Given the description of an element on the screen output the (x, y) to click on. 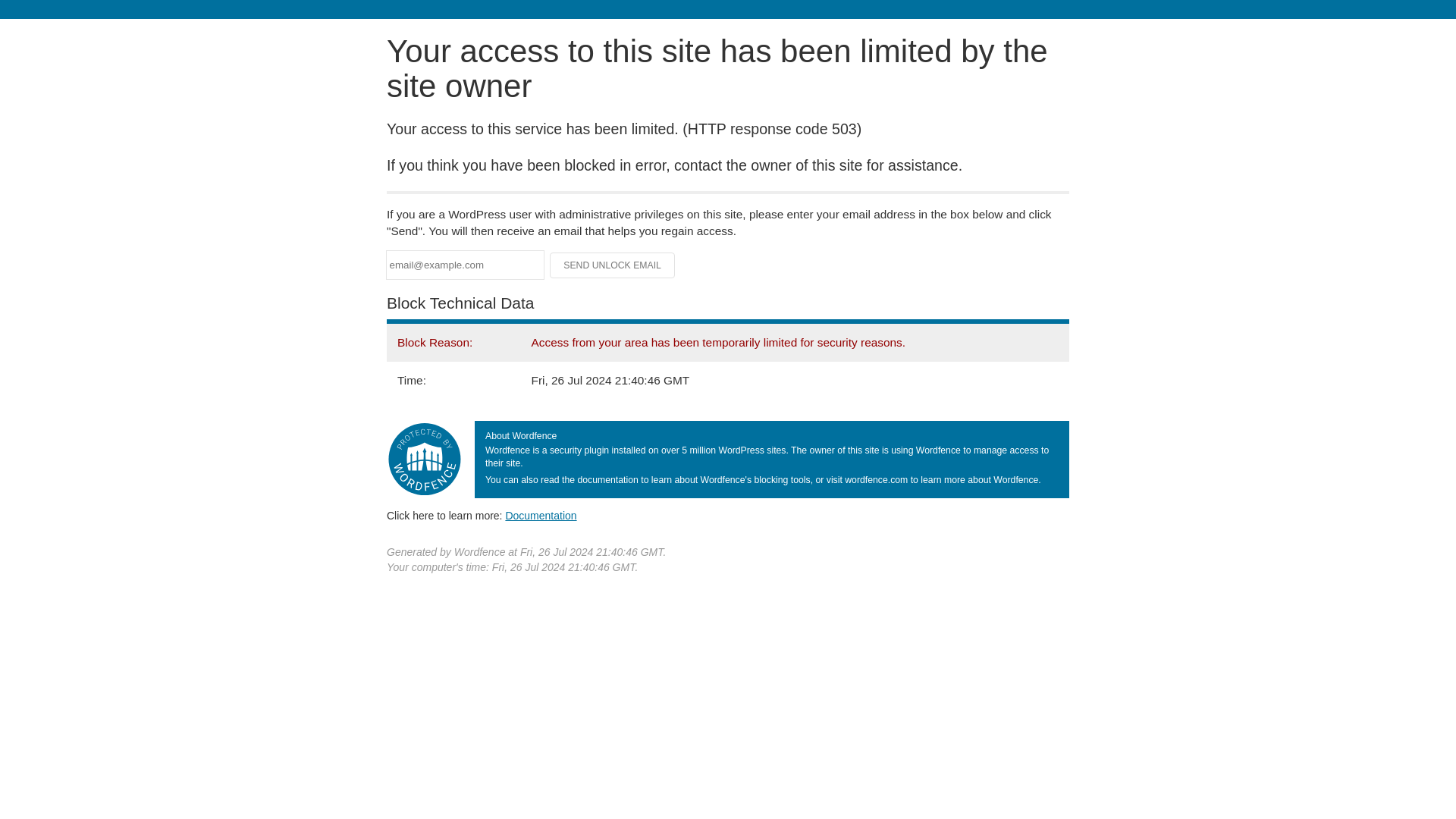
Send Unlock Email (612, 265)
Documentation (540, 515)
Send Unlock Email (612, 265)
